Given the description of an element on the screen output the (x, y) to click on. 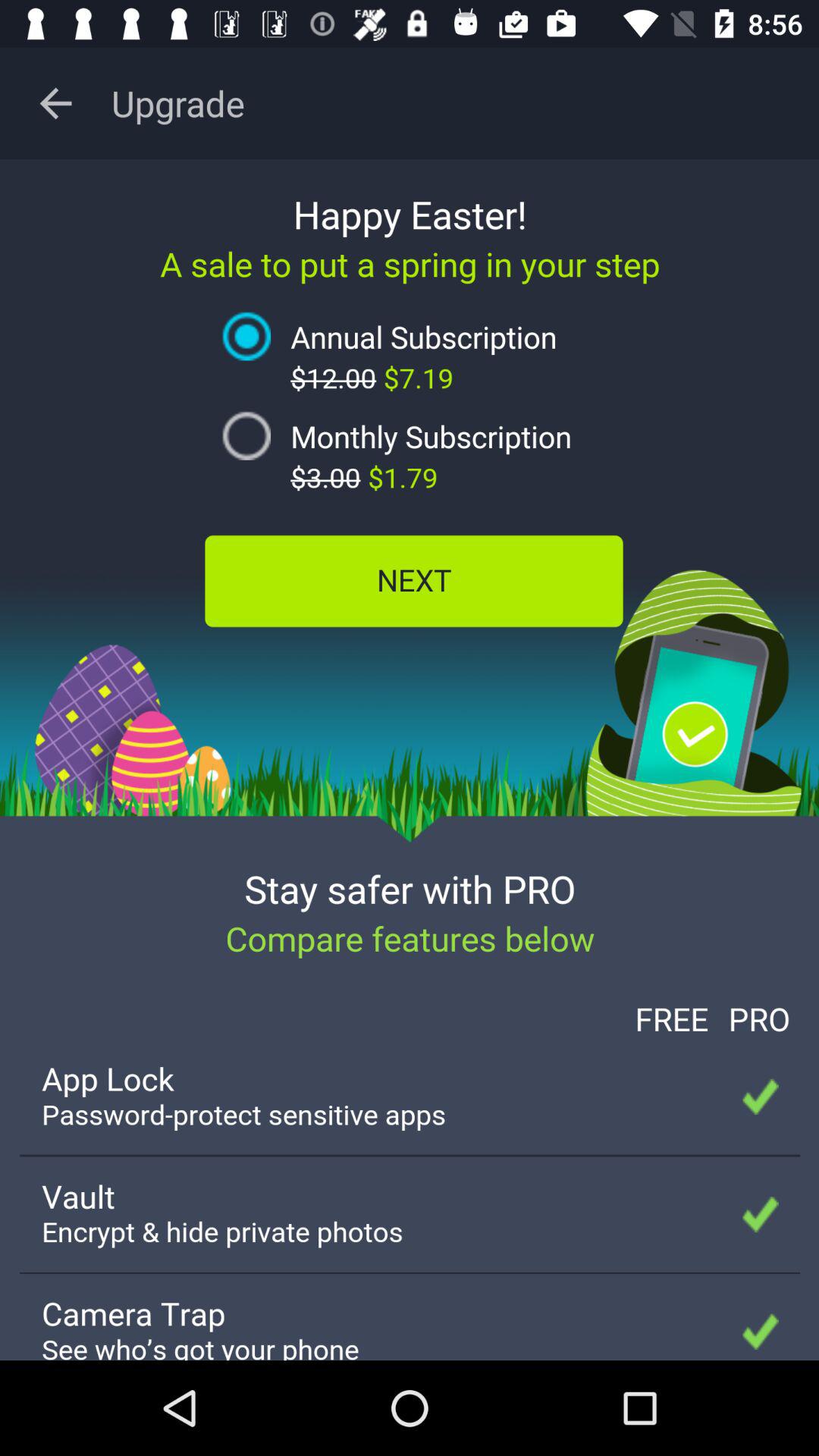
go the previous page (55, 103)
